Given the description of an element on the screen output the (x, y) to click on. 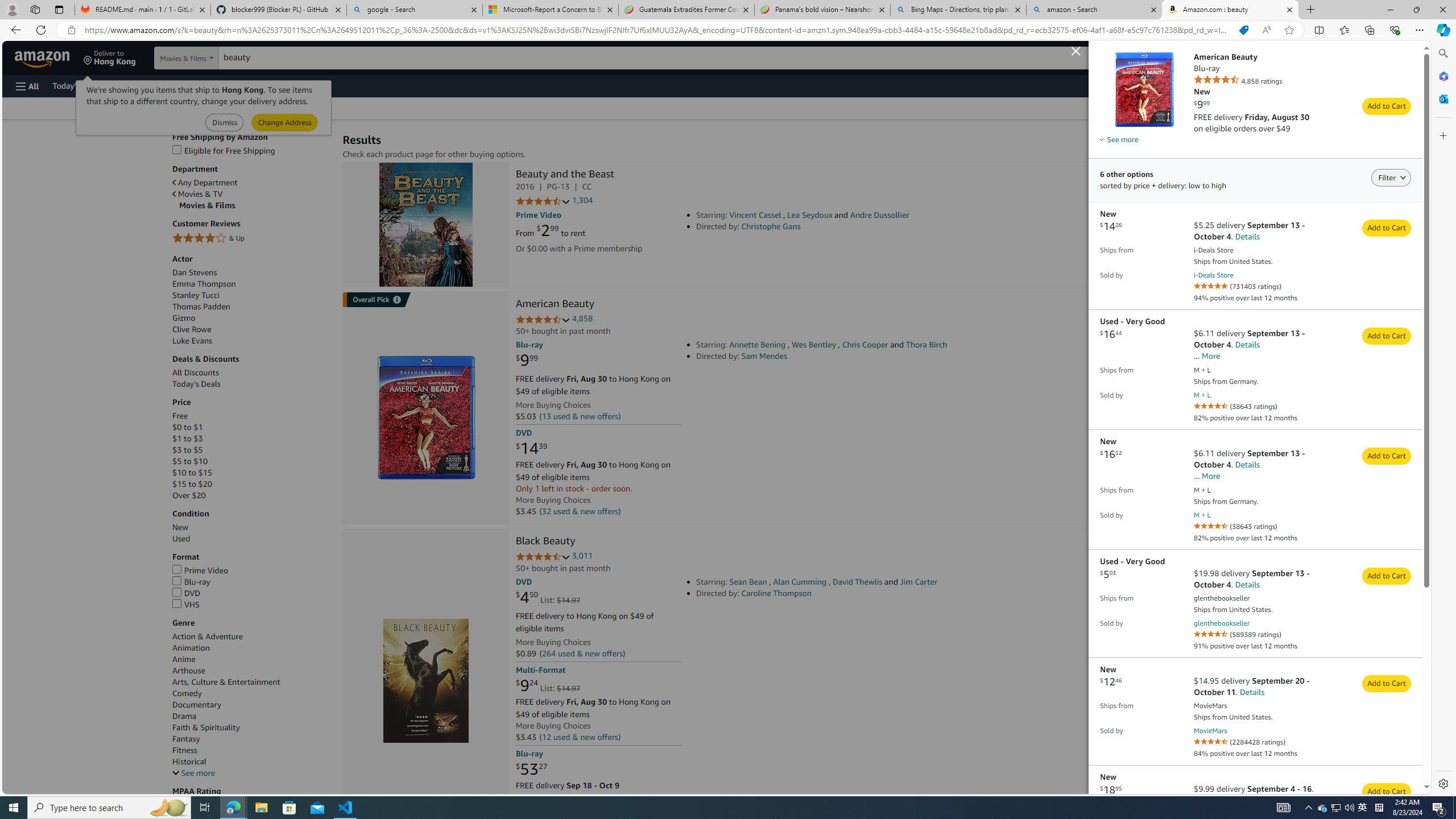
Close tab (1289, 9)
Filter Dropdown Show (1403, 176)
Gizmo (183, 317)
American Beauty (554, 304)
David Thewlis (856, 581)
Returns & Orders (1275, 57)
Read aloud this page (Ctrl+Shift+U) (1266, 29)
Minimize (1390, 9)
$1 to $3 (186, 438)
Submit (284, 122)
Andre Dussollier (880, 214)
Settings (1442, 783)
Fantasy (251, 738)
Directed by: Sam Mendes (854, 355)
